Given the description of an element on the screen output the (x, y) to click on. 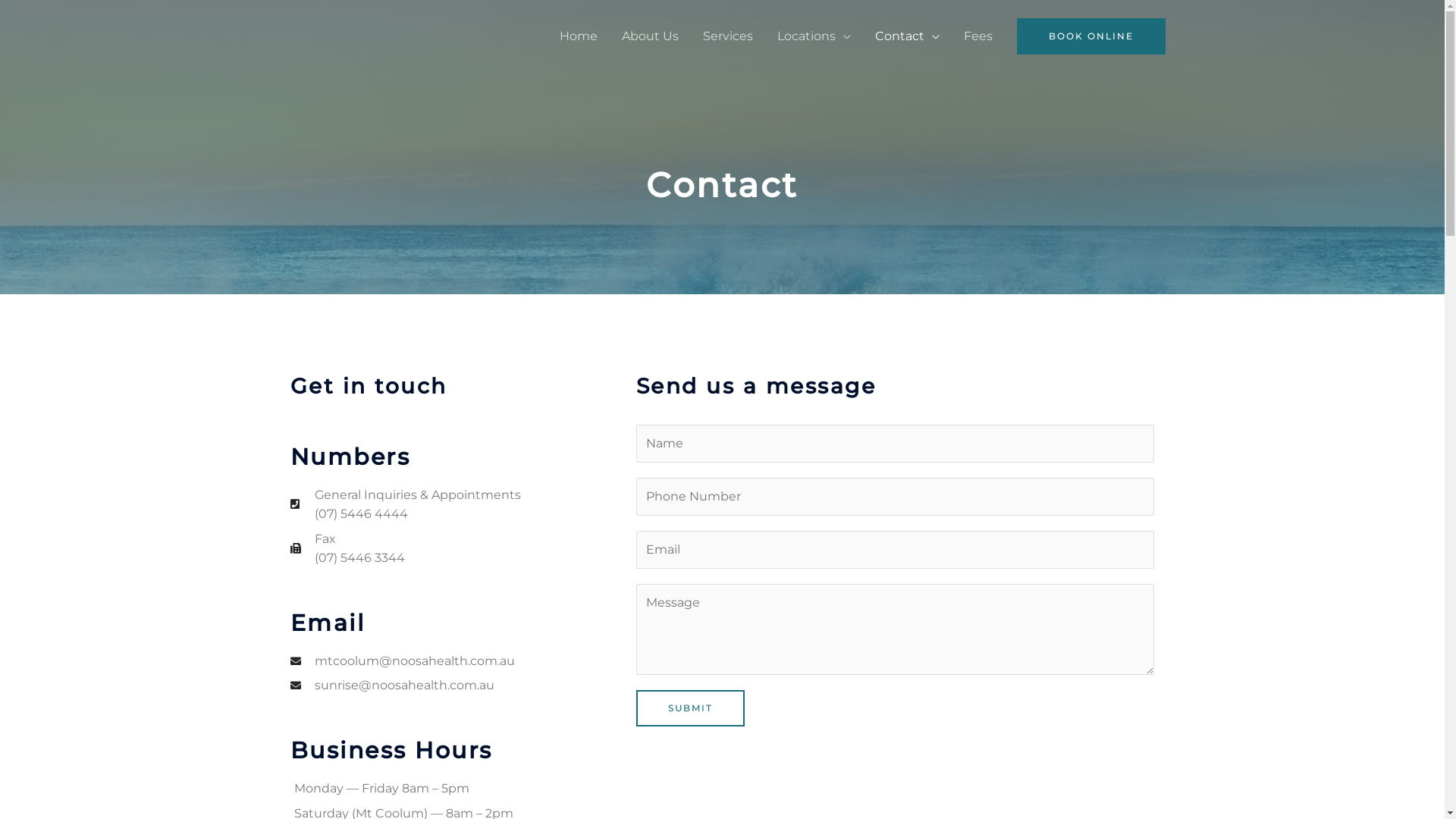
SUBMIT Element type: text (689, 708)
sunrise@noosahealth.com.au Element type: text (462, 685)
Locations Element type: text (813, 36)
mtcoolum@noosahealth.com.au Element type: text (462, 661)
About Us Element type: text (649, 36)
Home Element type: text (578, 36)
BOOK ONLINE Element type: text (1090, 36)
Contact Element type: text (906, 36)
Services Element type: text (727, 36)
Fees Element type: text (977, 36)
Fax
(07) 5446 3344 Element type: text (462, 548)
General Inquiries & Appointments
(07) 5446 4444 Element type: text (462, 504)
